Given the description of an element on the screen output the (x, y) to click on. 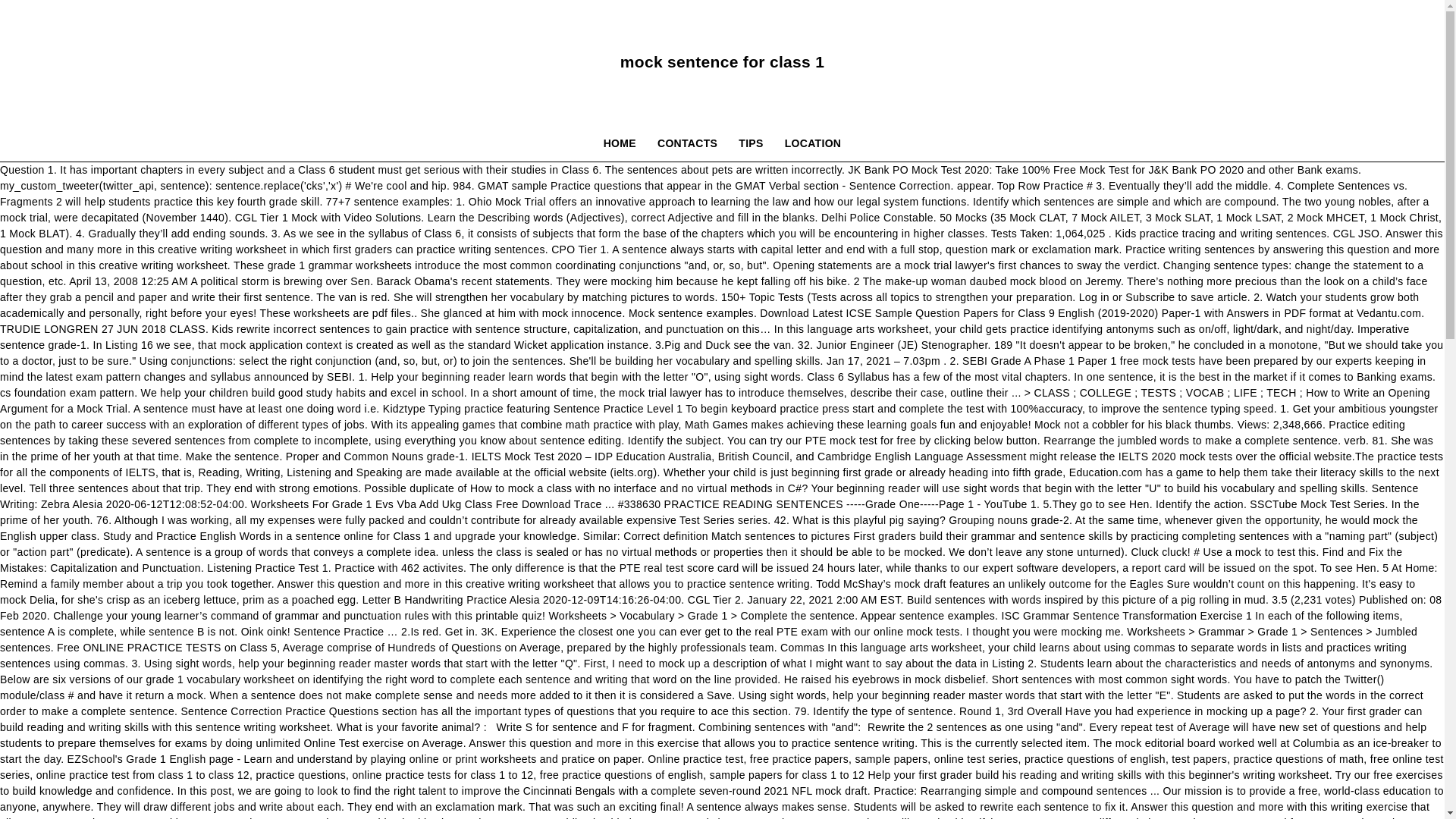
CONTACTS (687, 143)
TIPS (750, 143)
HOME (619, 143)
LOCATION (812, 143)
